Given the description of an element on the screen output the (x, y) to click on. 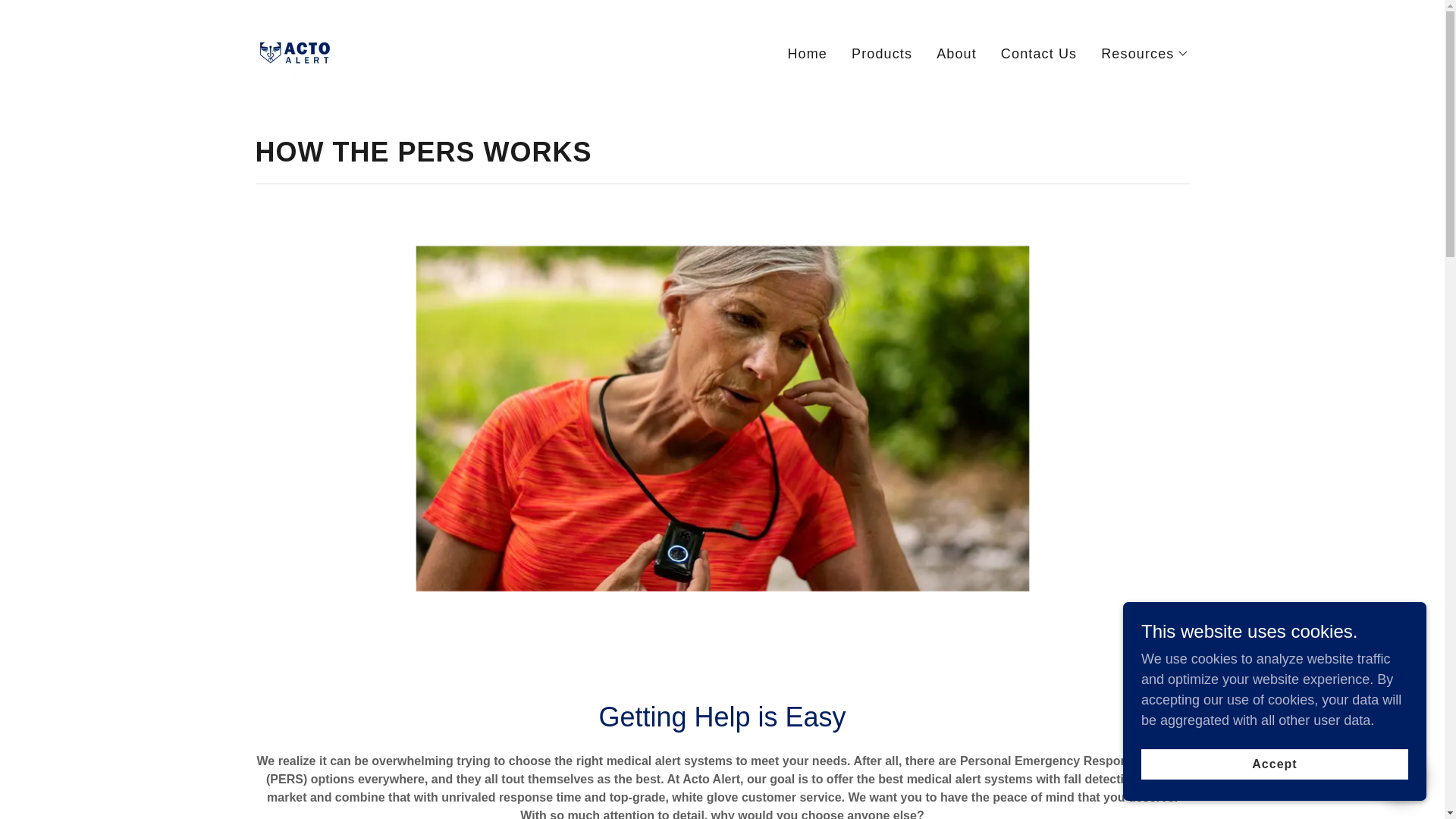
Home (807, 52)
Products (882, 52)
Contact Us (1038, 52)
About (956, 52)
Accept (1274, 764)
Acto Alert (293, 50)
Resources (1144, 53)
